Given the description of an element on the screen output the (x, y) to click on. 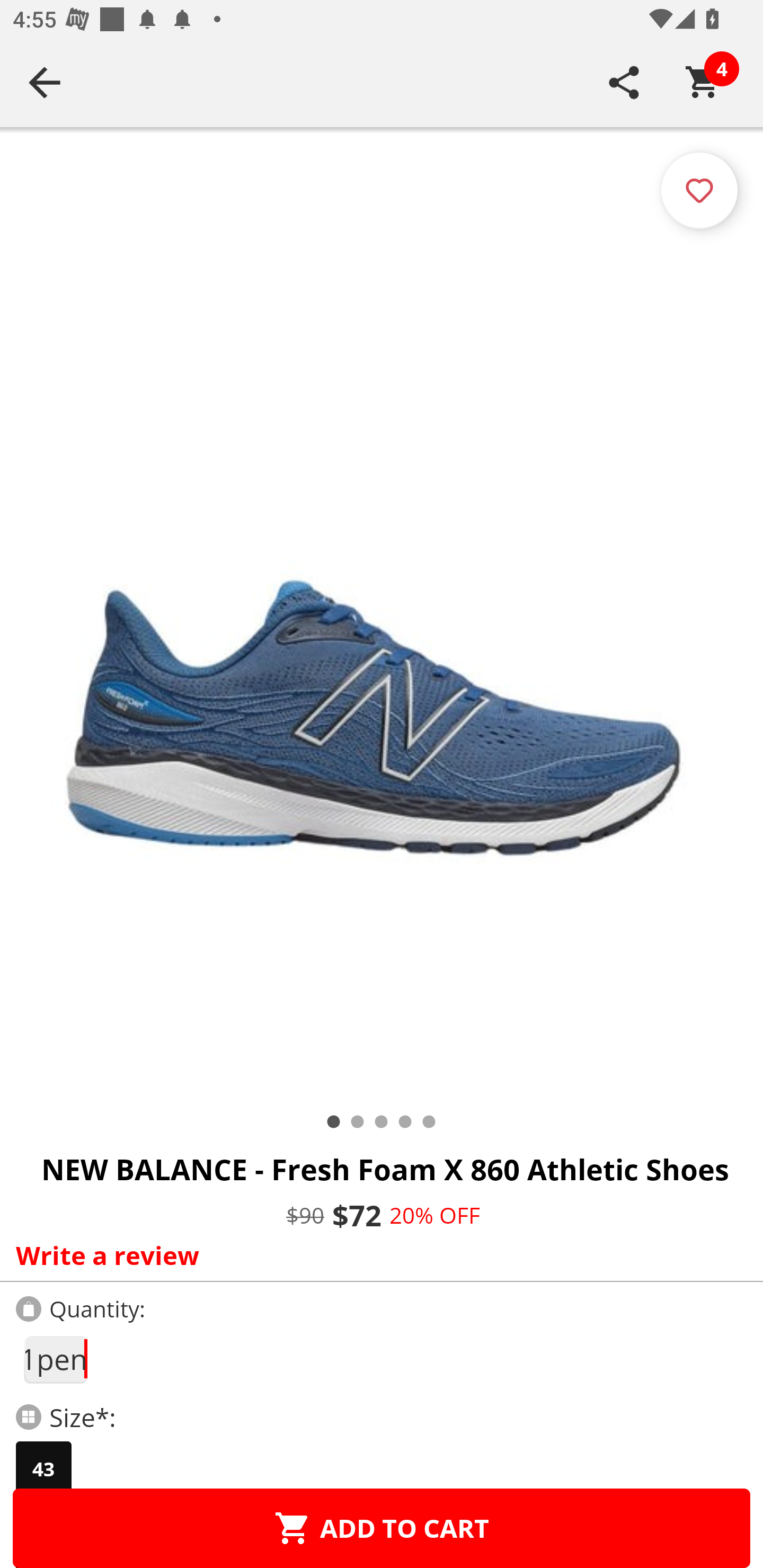
Navigate up (44, 82)
SHARE (623, 82)
Cart (703, 81)
Write a review (377, 1255)
1pen (55, 1358)
43 (43, 1468)
ADD TO CART (381, 1528)
